Given the description of an element on the screen output the (x, y) to click on. 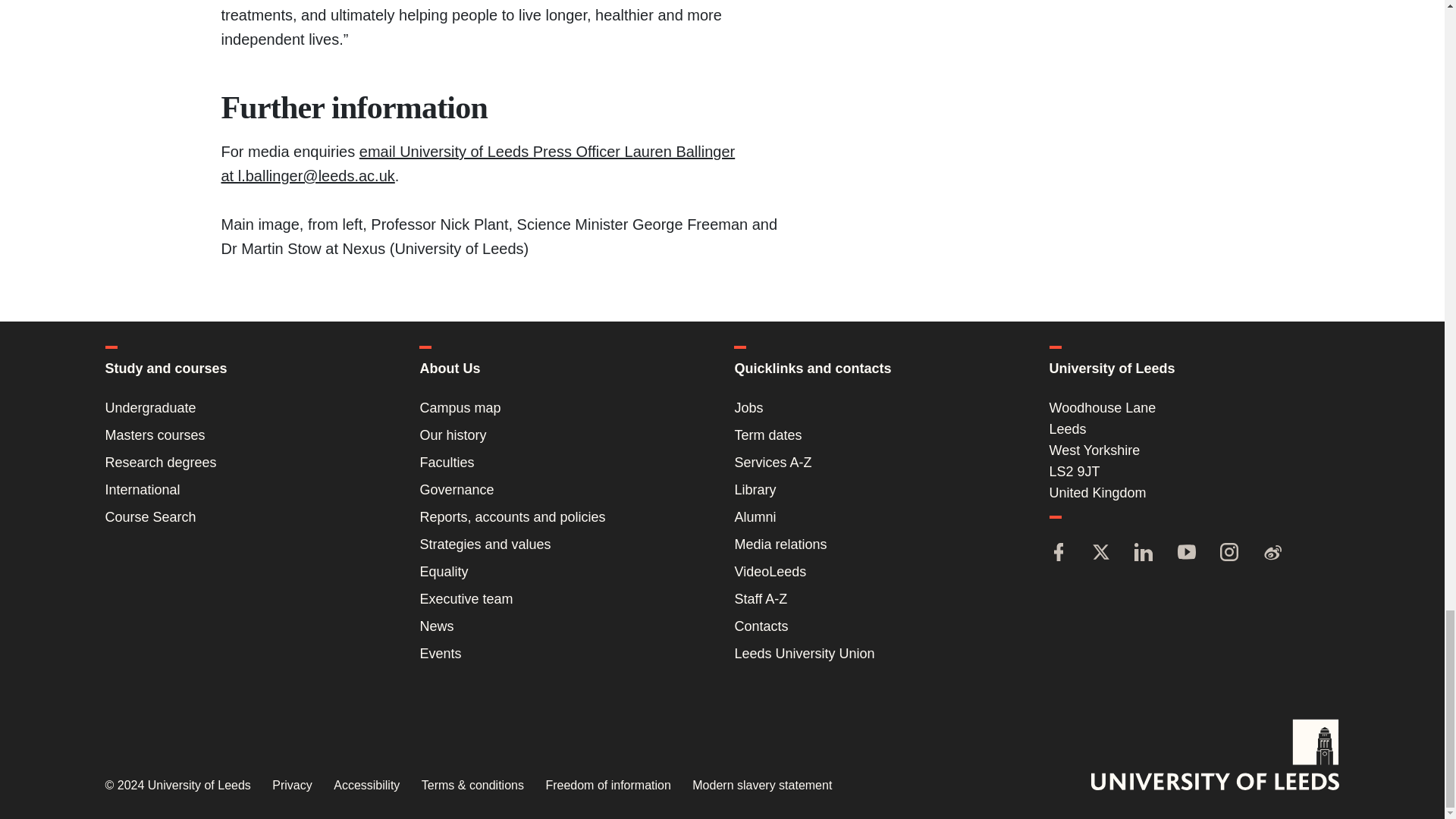
Go to Privacy page (291, 784)
Go to Freedom of information page (606, 784)
Go to Accessibility page (365, 784)
Go to Modern slavery statement page (762, 784)
